Given the description of an element on the screen output the (x, y) to click on. 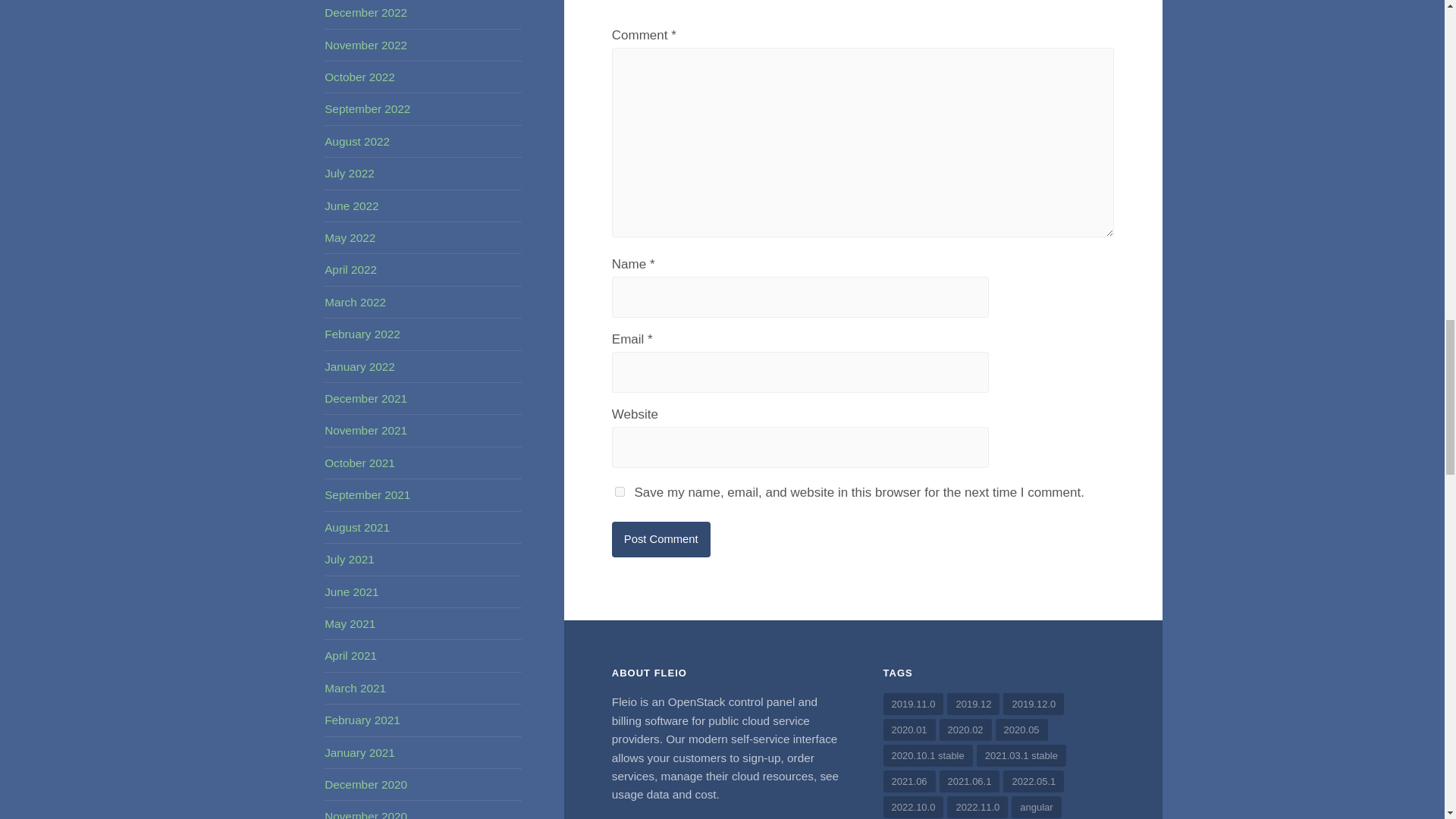
November 2022 (365, 44)
December 2022 (365, 11)
Post Comment (660, 539)
yes (619, 491)
